Given the description of an element on the screen output the (x, y) to click on. 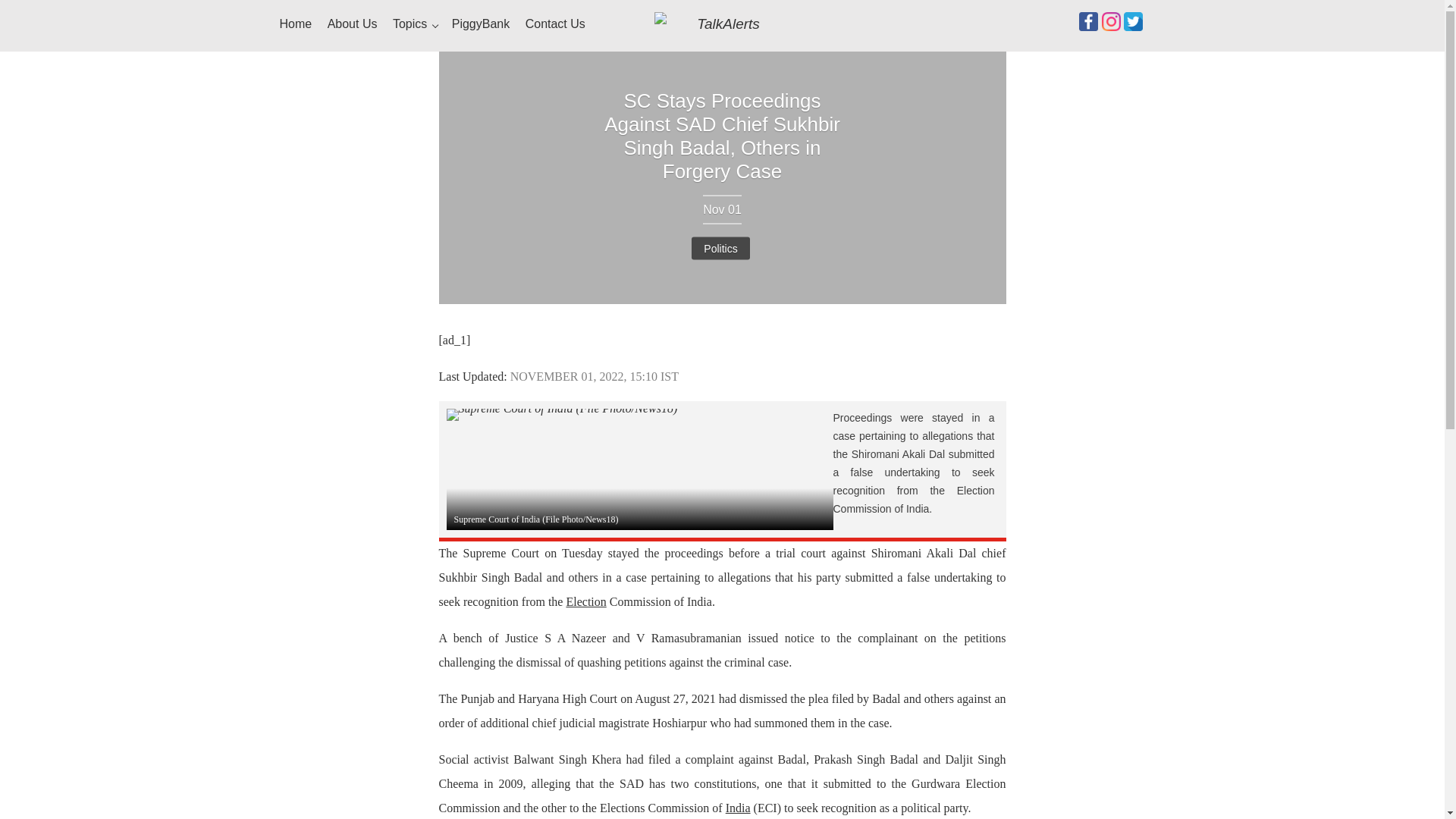
About Us (352, 24)
Politics (720, 248)
India (738, 807)
Election (585, 601)
Topics (414, 24)
PiggyBank (481, 24)
Home (295, 24)
Contact Us (555, 24)
